Given the description of an element on the screen output the (x, y) to click on. 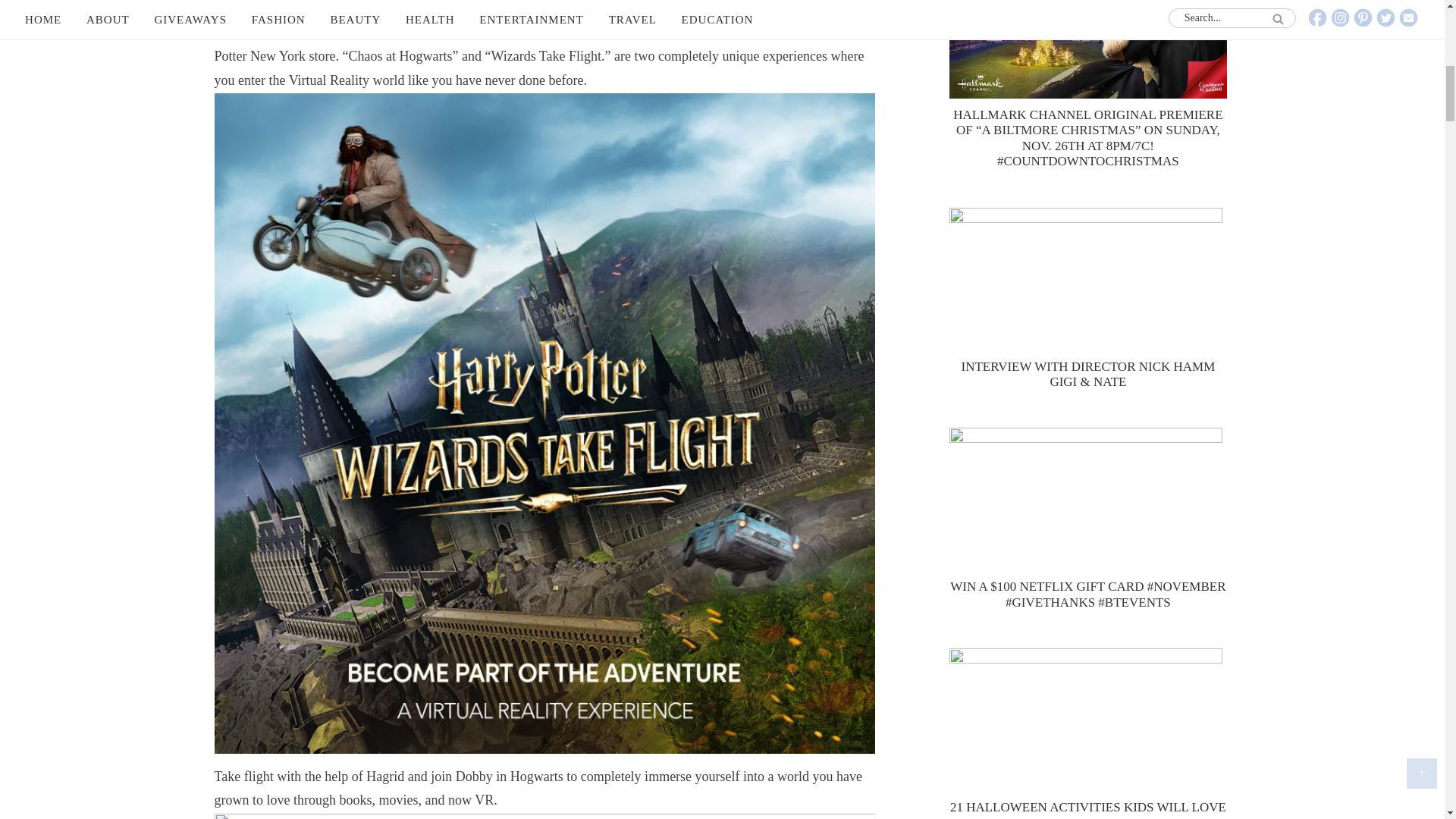
21 Halloween Activities Kids Will Love (1087, 721)
two VR experiences (720, 32)
21 Halloween Activities Kids Will Love (1087, 807)
